Given the description of an element on the screen output the (x, y) to click on. 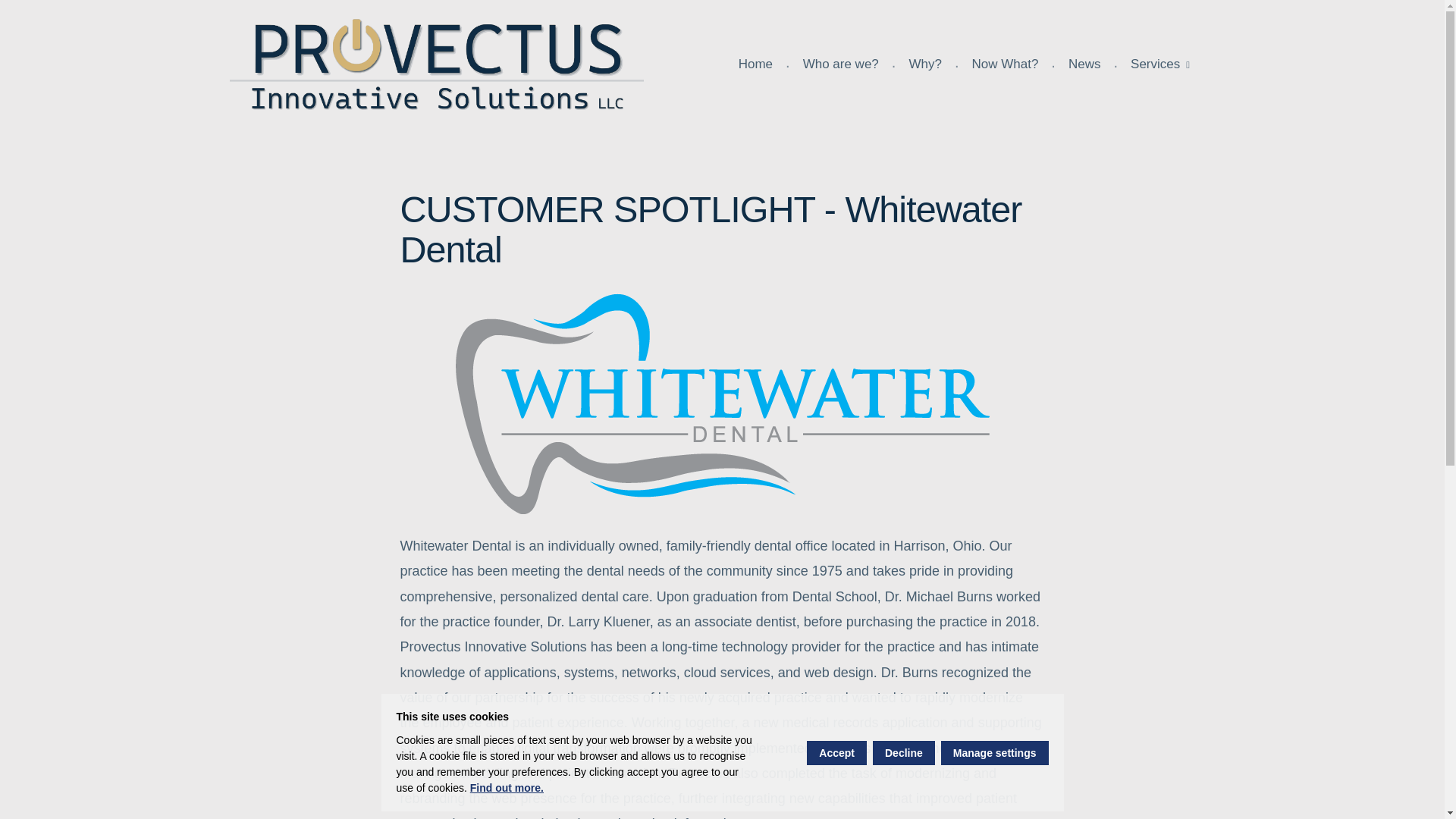
Who are we? (840, 63)
Now What? (1004, 63)
Manage settings (994, 752)
Accept (836, 752)
Decline (903, 752)
Find out more. (506, 787)
Home (755, 63)
Why? (924, 63)
News (1084, 63)
